Given the description of an element on the screen output the (x, y) to click on. 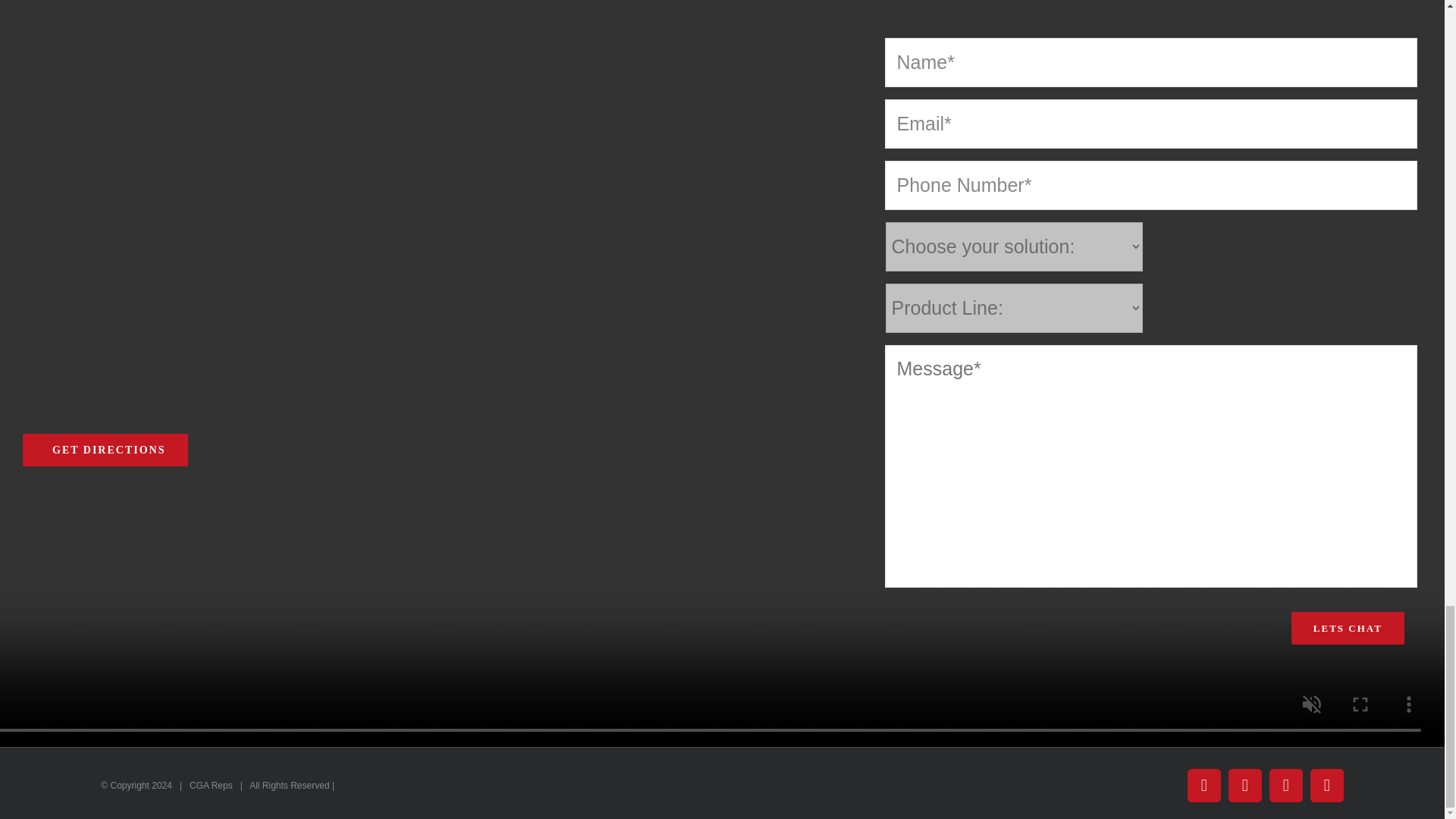
Facebook (1204, 785)
Instagram (1286, 785)
LETS CHAT (1348, 627)
Twitter (1245, 785)
LinkedIn (1326, 785)
